Given the description of an element on the screen output the (x, y) to click on. 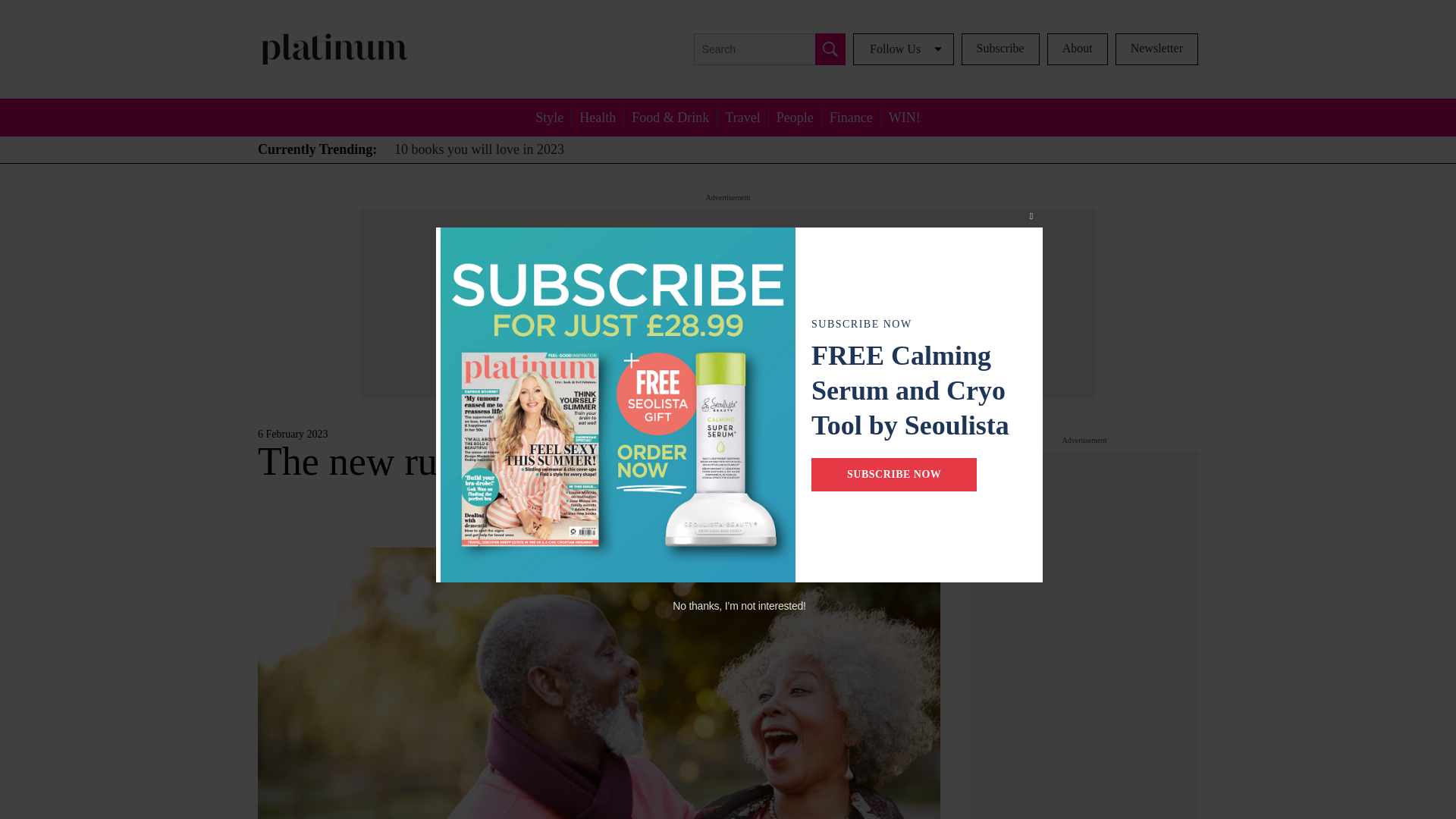
10 books you will love in 2023 (479, 149)
Subscribe (999, 49)
Health (597, 117)
Travel (742, 117)
WIN! (904, 117)
Style (548, 117)
Search (830, 49)
Follow Us (903, 49)
advertisement (1084, 635)
Newsletter (1156, 49)
Finance (851, 117)
About (1077, 49)
People (794, 117)
